Given the description of an element on the screen output the (x, y) to click on. 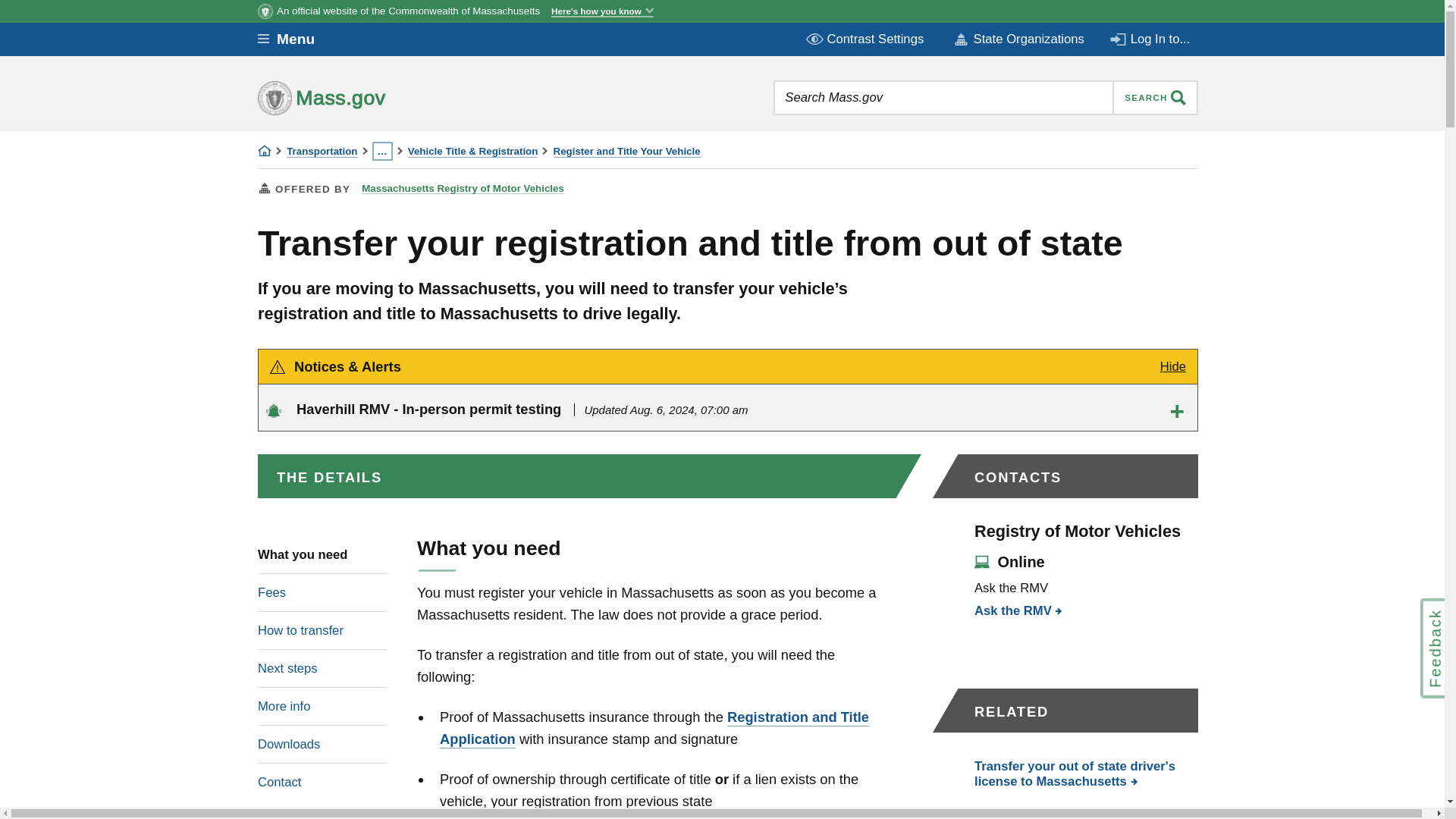
How to transfer (322, 629)
Mass.gov home page (369, 97)
Next steps (322, 668)
Log In to... (1151, 38)
Contrast Settings (866, 38)
Contact (322, 781)
Downloads (322, 743)
Menu (297, 39)
Fees (322, 591)
